Given the description of an element on the screen output the (x, y) to click on. 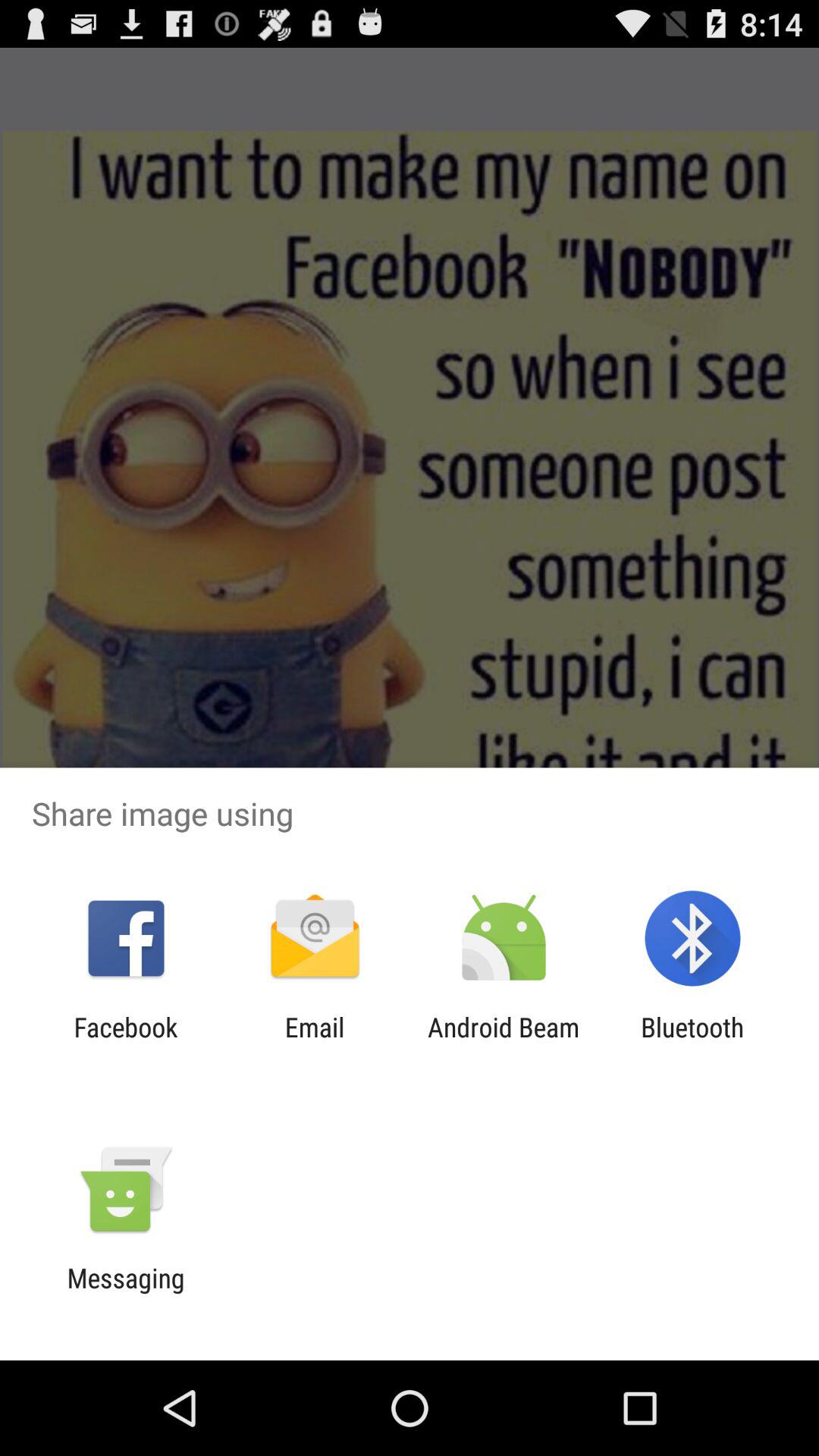
press the icon to the left of the android beam item (314, 1042)
